Given the description of an element on the screen output the (x, y) to click on. 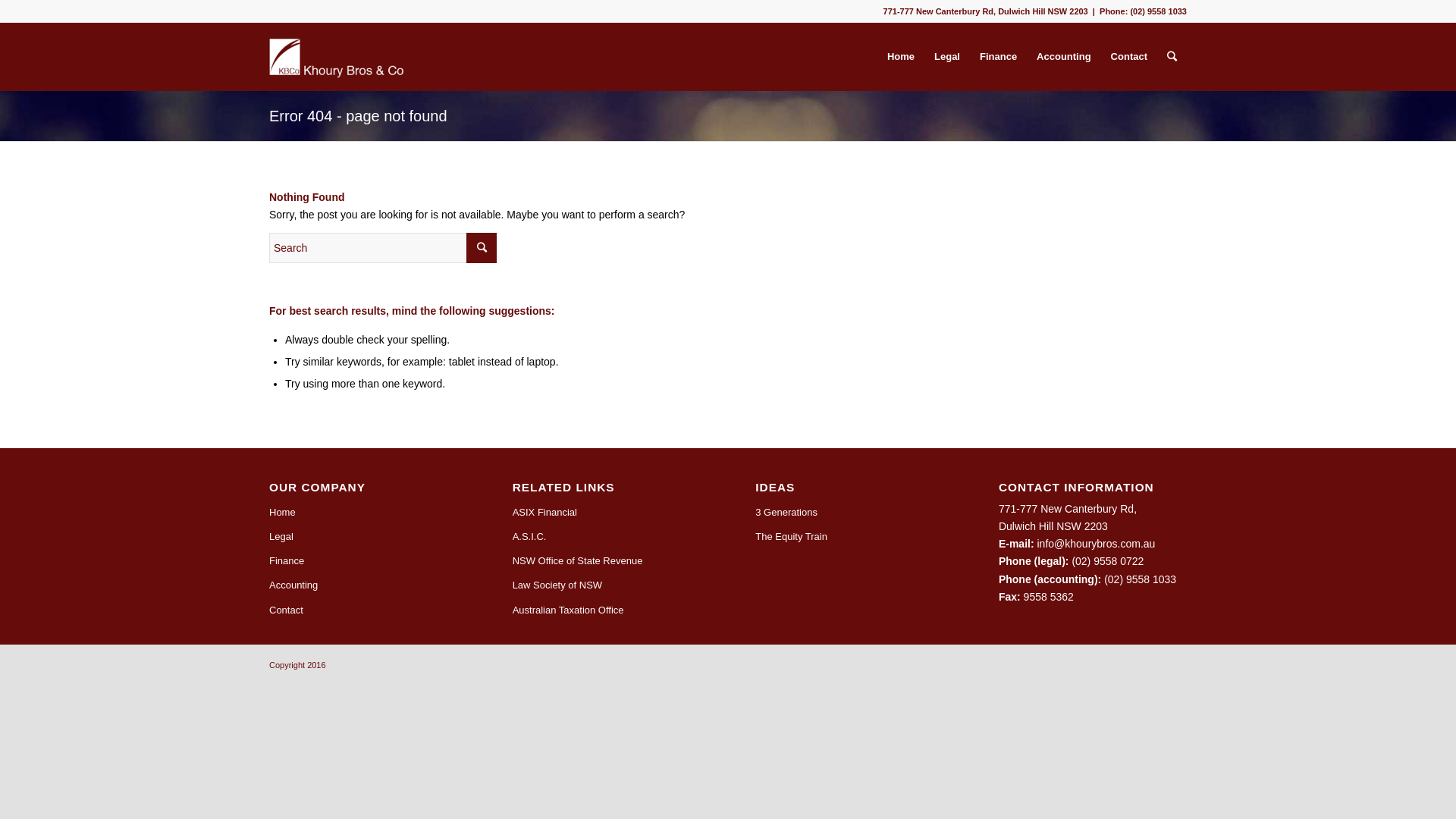
A.S.I.C. Element type: text (606, 536)
Finance Element type: text (363, 561)
Australian Taxation Office Element type: text (606, 610)
info@khourybros.com.au Element type: text (1096, 543)
3 Generations Element type: text (849, 512)
The Equity Train Element type: text (849, 536)
Legal Element type: text (363, 536)
Finance Element type: text (997, 56)
Contact Element type: text (1129, 56)
Legal Element type: text (946, 56)
ASIX Financial Element type: text (606, 512)
Home Element type: text (363, 512)
Contact Element type: text (363, 610)
(02) 9558 1033 Element type: text (1157, 10)
Accounting Element type: text (363, 585)
Law Society of NSW Element type: text (606, 585)
(02) 9558 0722 Element type: text (1107, 561)
Accounting Element type: text (1063, 56)
Home Element type: text (900, 56)
NSW Office of State Revenue Element type: text (606, 561)
(02) 9558 1033 Element type: text (1140, 579)
